Given the description of an element on the screen output the (x, y) to click on. 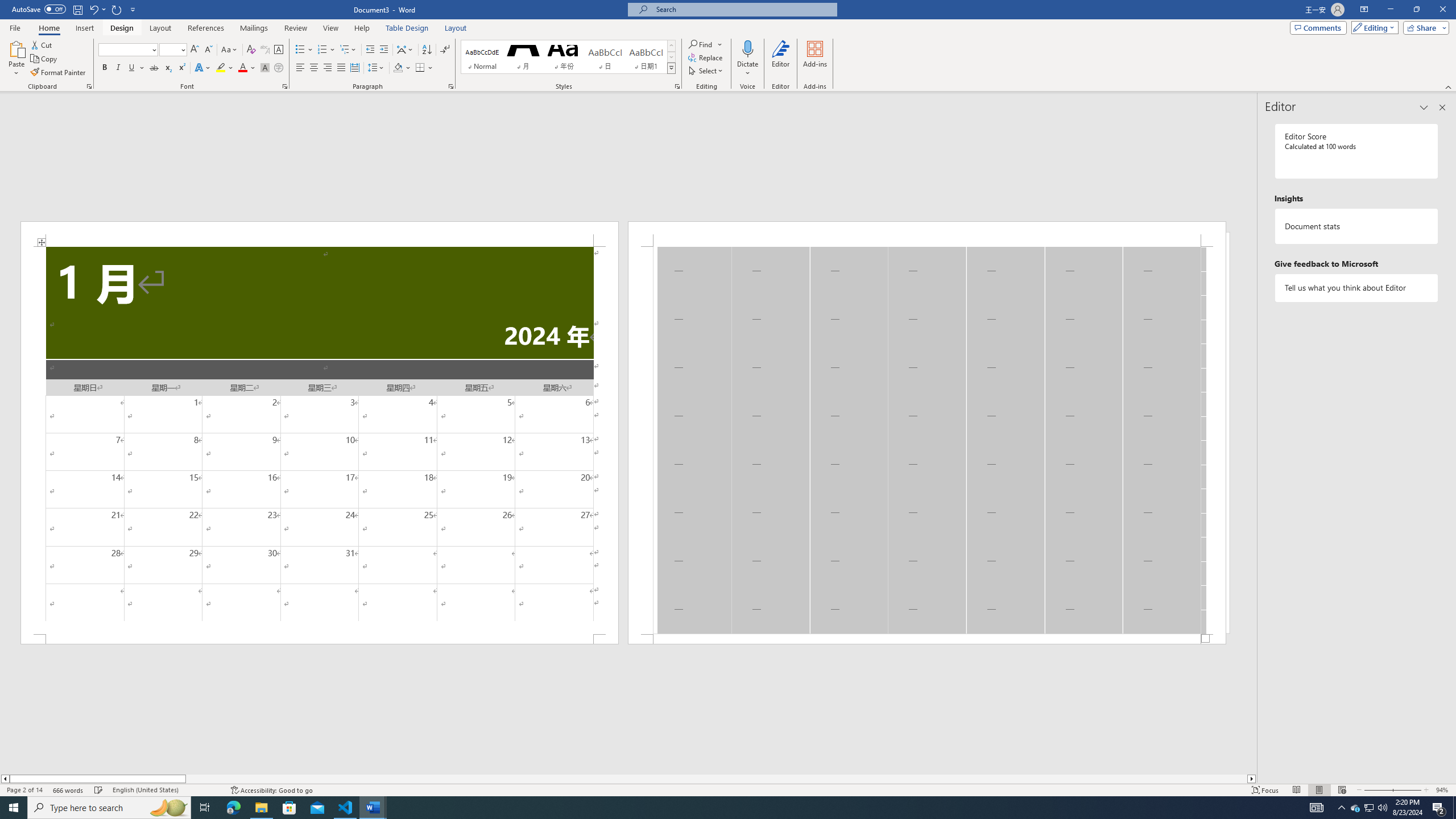
Page right (716, 778)
Tell us what you think about Editor (1356, 288)
